Given the description of an element on the screen output the (x, y) to click on. 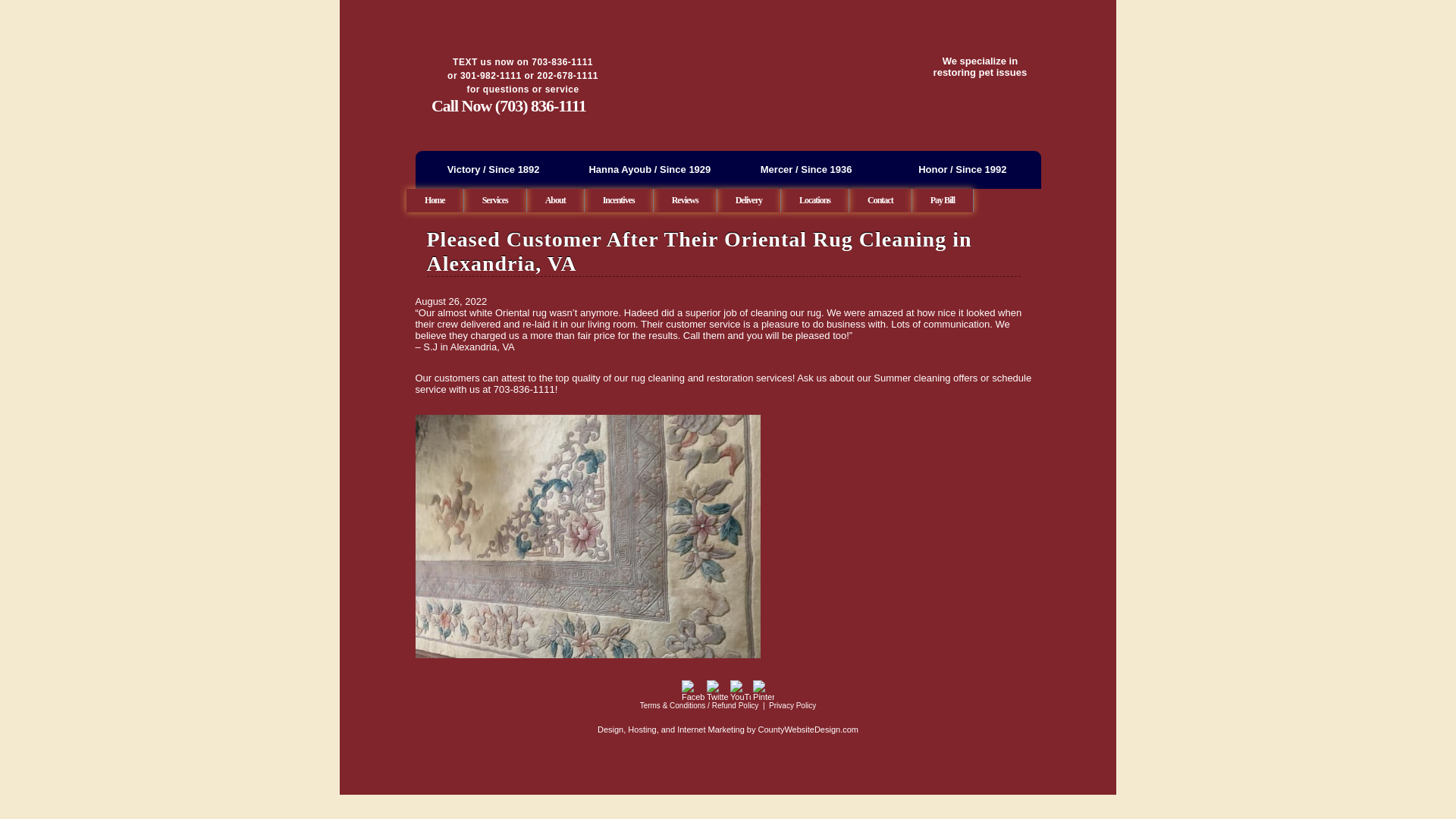
Services (495, 200)
703-836-1111 (561, 61)
Services (495, 200)
Incentives (619, 200)
301-982-1111 (490, 75)
Home (435, 200)
About (556, 200)
Text Us (567, 75)
202-678-1111 (567, 75)
Home (435, 200)
